Given the description of an element on the screen output the (x, y) to click on. 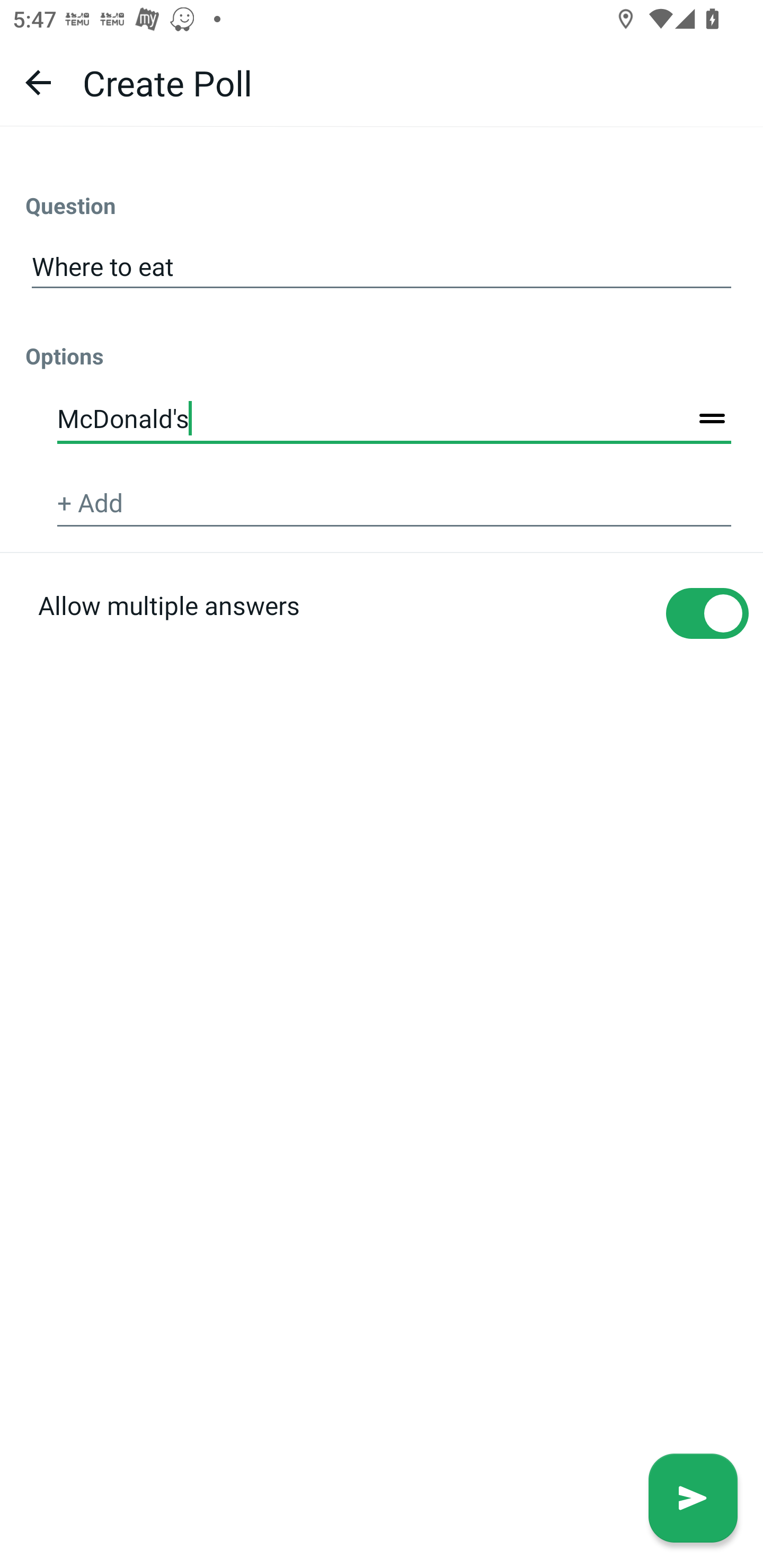
Navigate up (38, 82)
Where to eat (381, 267)
McDonald's (394, 419)
+ Add (394, 503)
Allow multiple answers (381, 644)
Send (692, 1497)
